Given the description of an element on the screen output the (x, y) to click on. 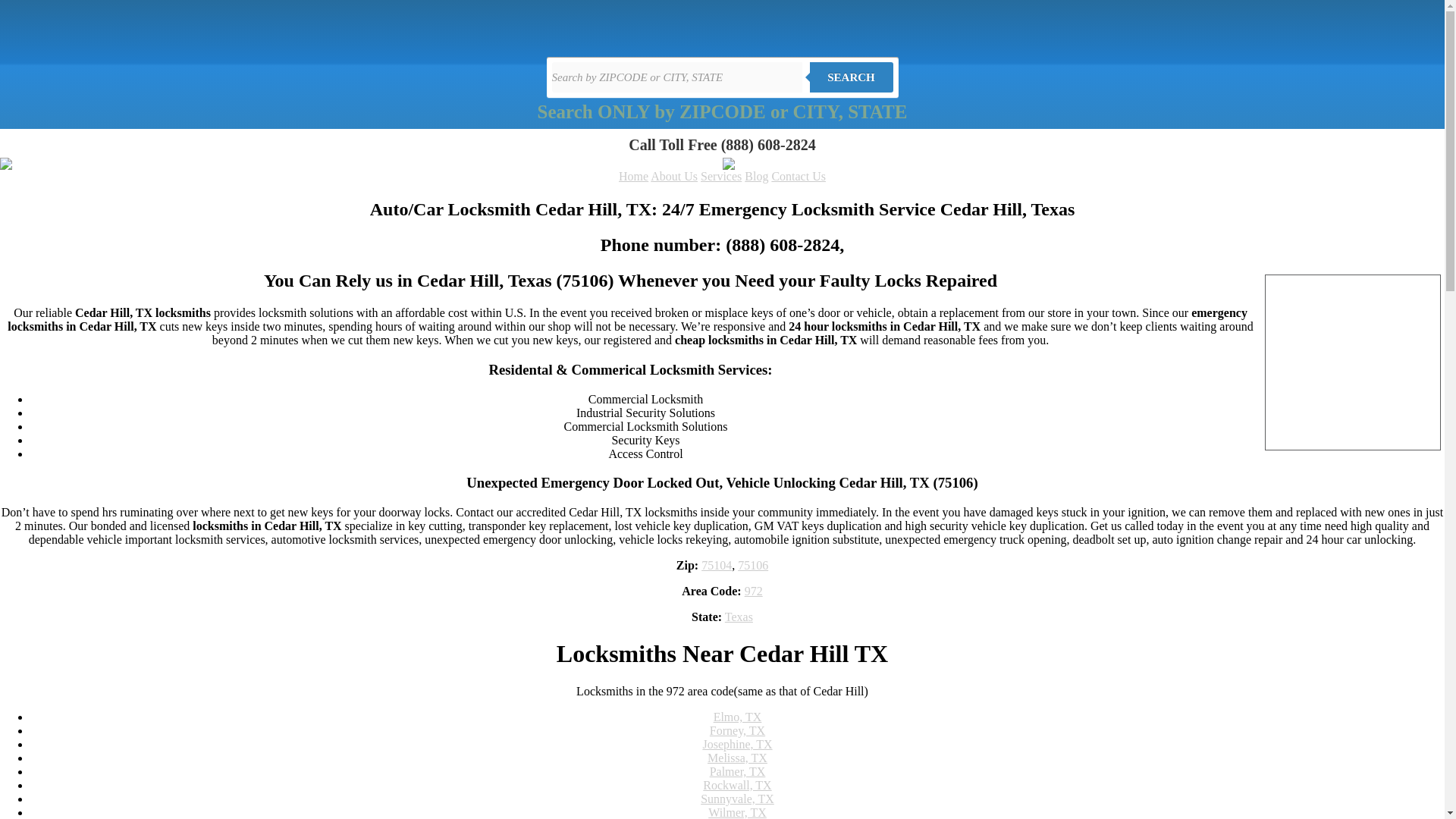
Blog (756, 175)
Josephine, TX (736, 744)
Home (632, 175)
Contact Us (798, 175)
About Us (673, 175)
Sunnyvale, TX (737, 798)
972 (753, 590)
SEARCH (851, 77)
Rockwall, TX (737, 784)
Services (720, 175)
